Given the description of an element on the screen output the (x, y) to click on. 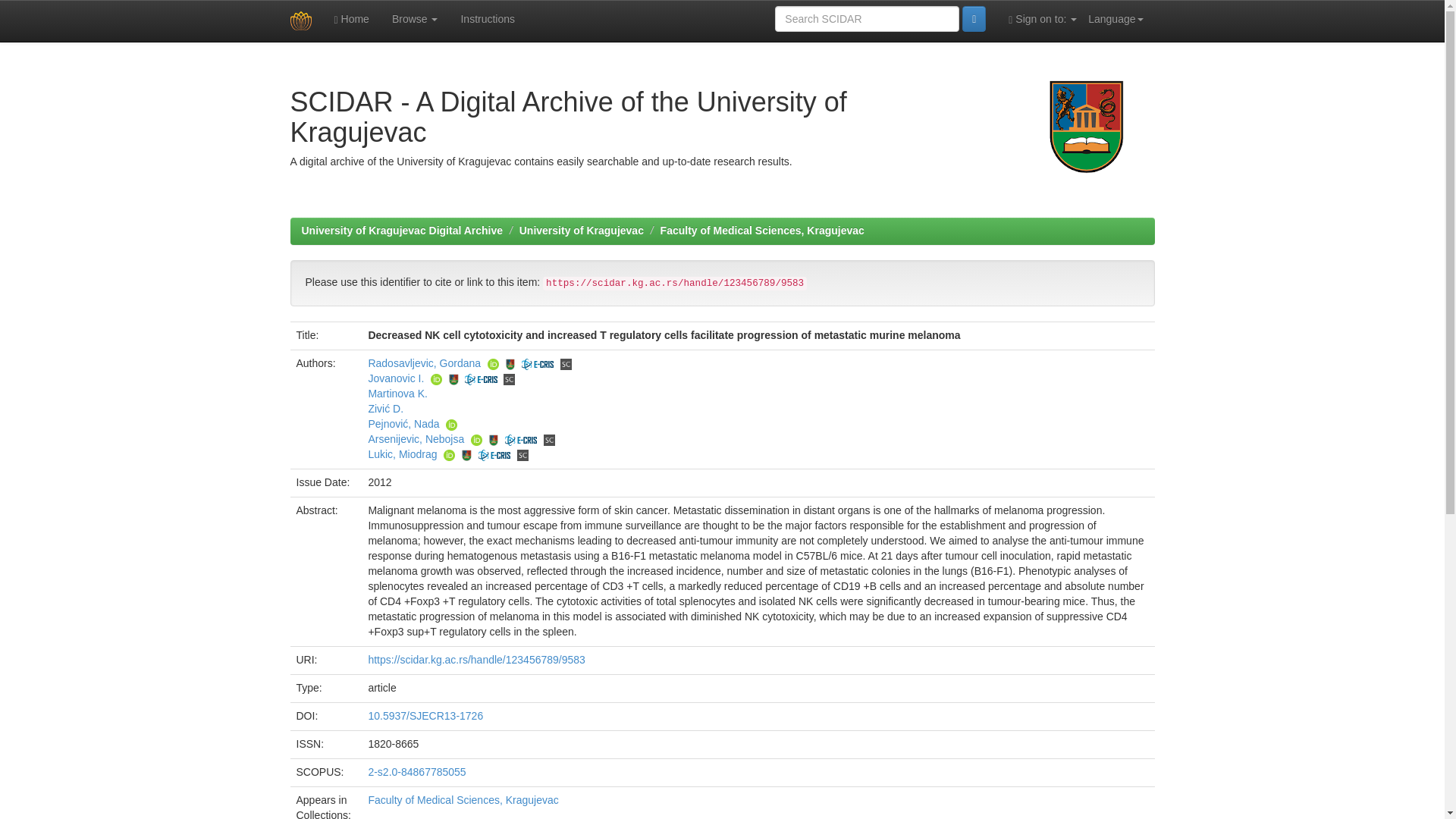
Radosavljevic, Gordana (424, 363)
Martinova K. (398, 393)
University of Kragujevac Digital Archive (402, 230)
Jovanovic I. (395, 378)
Faculty of Medical Sciences, Kragujevac (762, 230)
Arsenijevic, Nebojsa (416, 439)
Instructions (486, 18)
Browse (414, 18)
University of Kragujevac (581, 230)
Home (351, 18)
Language (1115, 18)
Sign on to: (1042, 18)
